Given the description of an element on the screen output the (x, y) to click on. 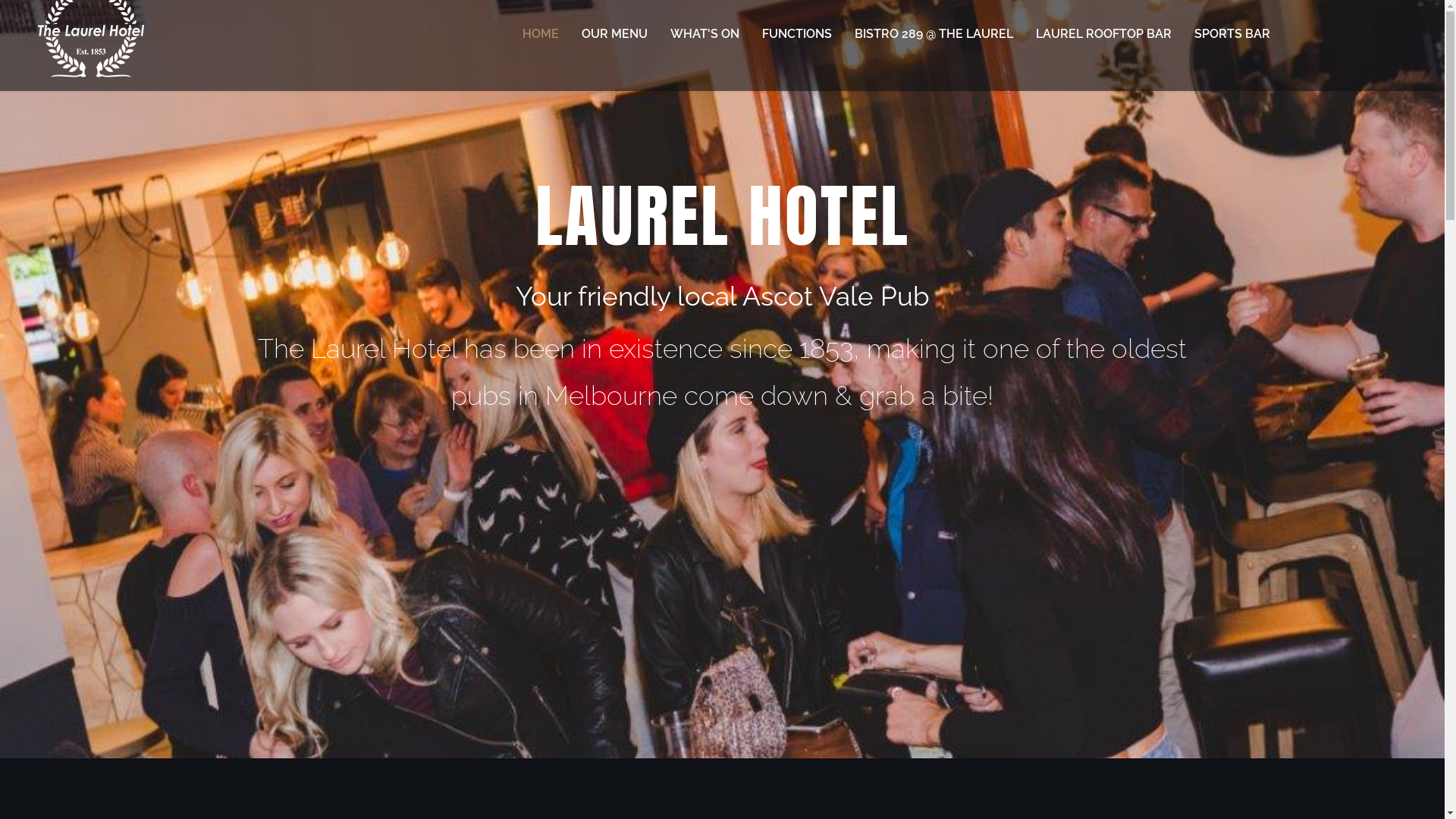
SPORTS BAR Element type: text (1232, 34)
FUNCTIONS Element type: text (796, 34)
OUR MENU Element type: text (614, 34)
BISTRO 289 @ THE LAUREL Element type: text (933, 34)
HOME Element type: text (540, 34)
LAUREL ROOFTOP BAR Element type: text (1103, 34)
WHAT'S ON Element type: text (704, 34)
